Given the description of an element on the screen output the (x, y) to click on. 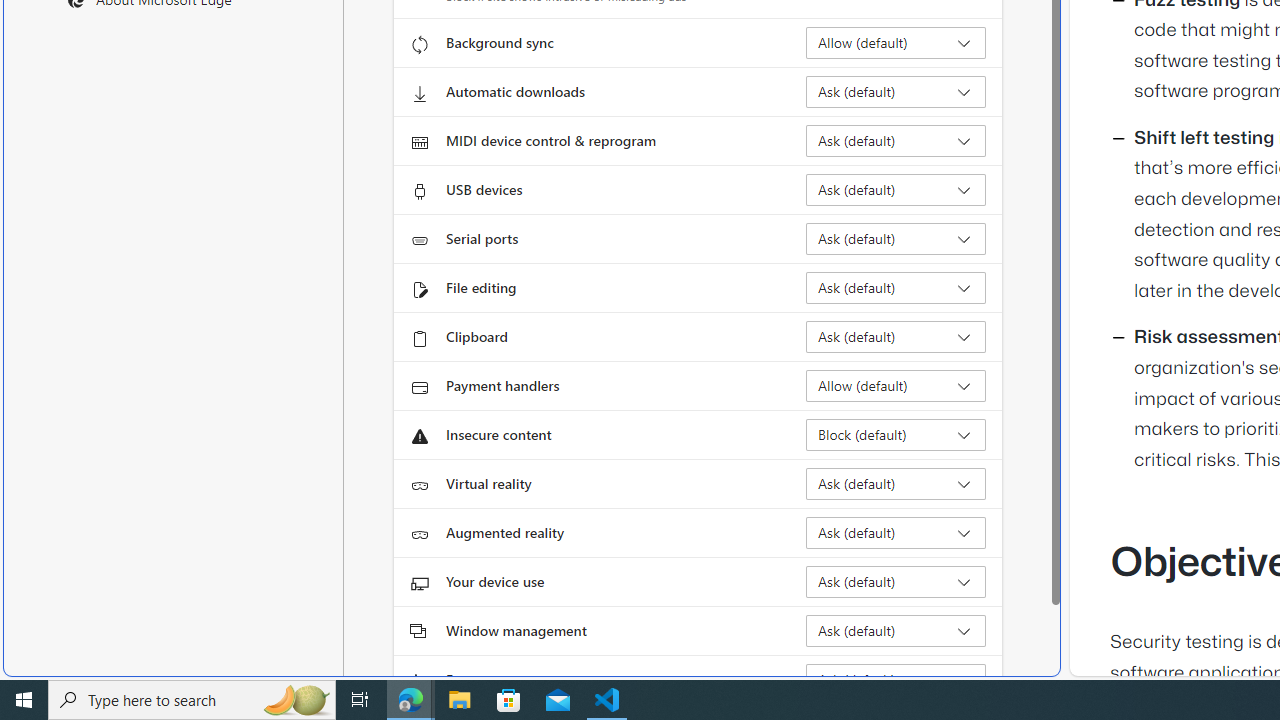
Serial ports Ask (default) (895, 238)
File editing Ask (default) (895, 287)
Virtual reality Ask (default) (895, 483)
Fonts Ask (default) (895, 679)
Payment handlers Allow (default) (895, 385)
USB devices Ask (default) (895, 189)
Augmented reality Ask (default) (895, 532)
Automatic downloads Ask (default) (895, 92)
Background sync Allow (default) (895, 43)
MIDI device control & reprogram Ask (default) (895, 140)
Clipboard Ask (default) (895, 336)
Your device use Ask (default) (895, 581)
Window management Ask (default) (895, 630)
Insecure content Block (default) (895, 434)
